Given the description of an element on the screen output the (x, y) to click on. 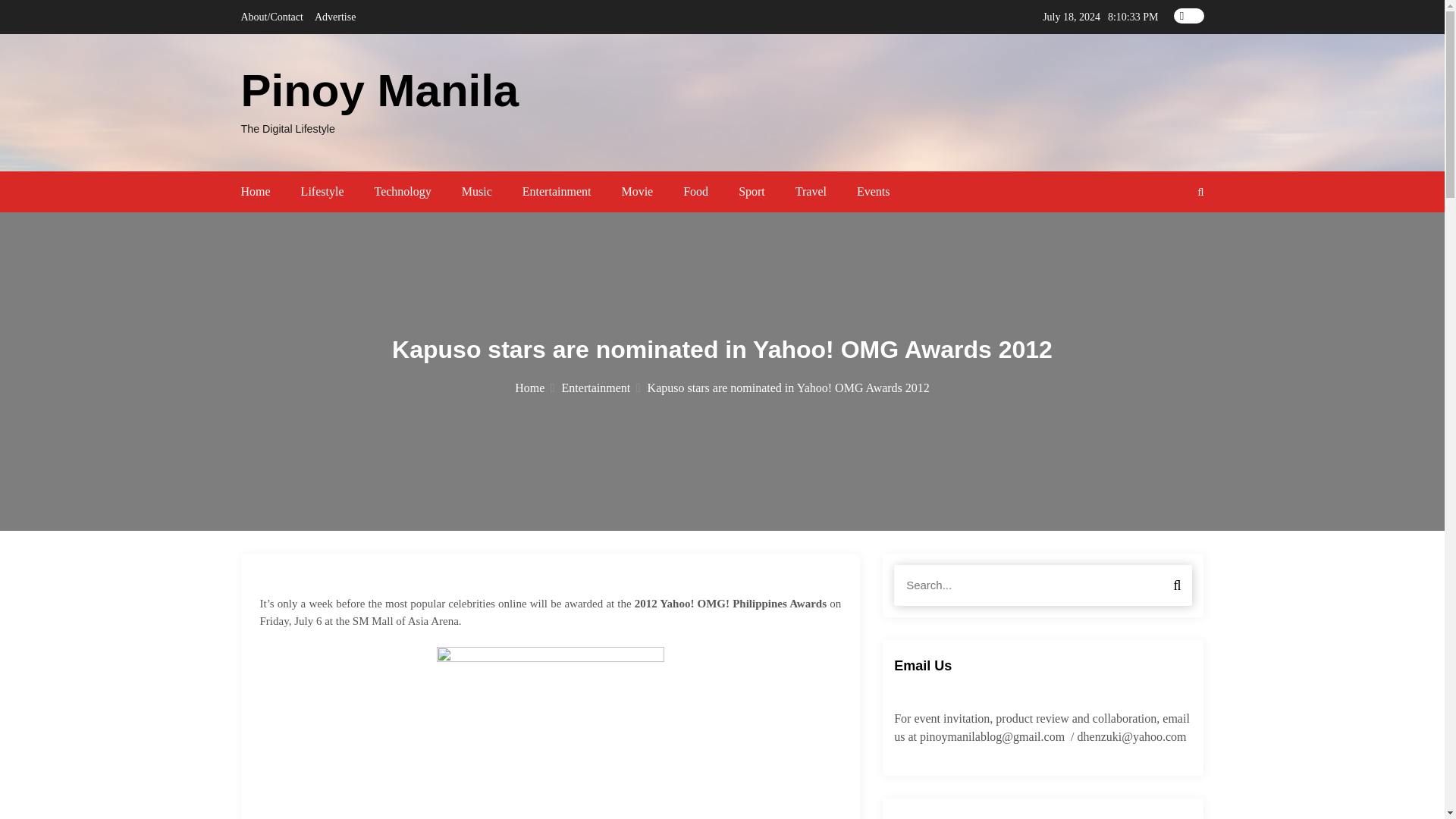
Home (534, 386)
Entertainment (601, 386)
Lifestyle (322, 191)
Sport (751, 191)
Entertainment (556, 191)
Food (694, 191)
Music (476, 191)
mariandingdong-kapuso-gma 7 (549, 733)
Advertise (334, 16)
Pinoy Manila (380, 90)
Events (873, 191)
Home (255, 191)
Movie (636, 191)
Technology (402, 191)
Travel (810, 191)
